Given the description of an element on the screen output the (x, y) to click on. 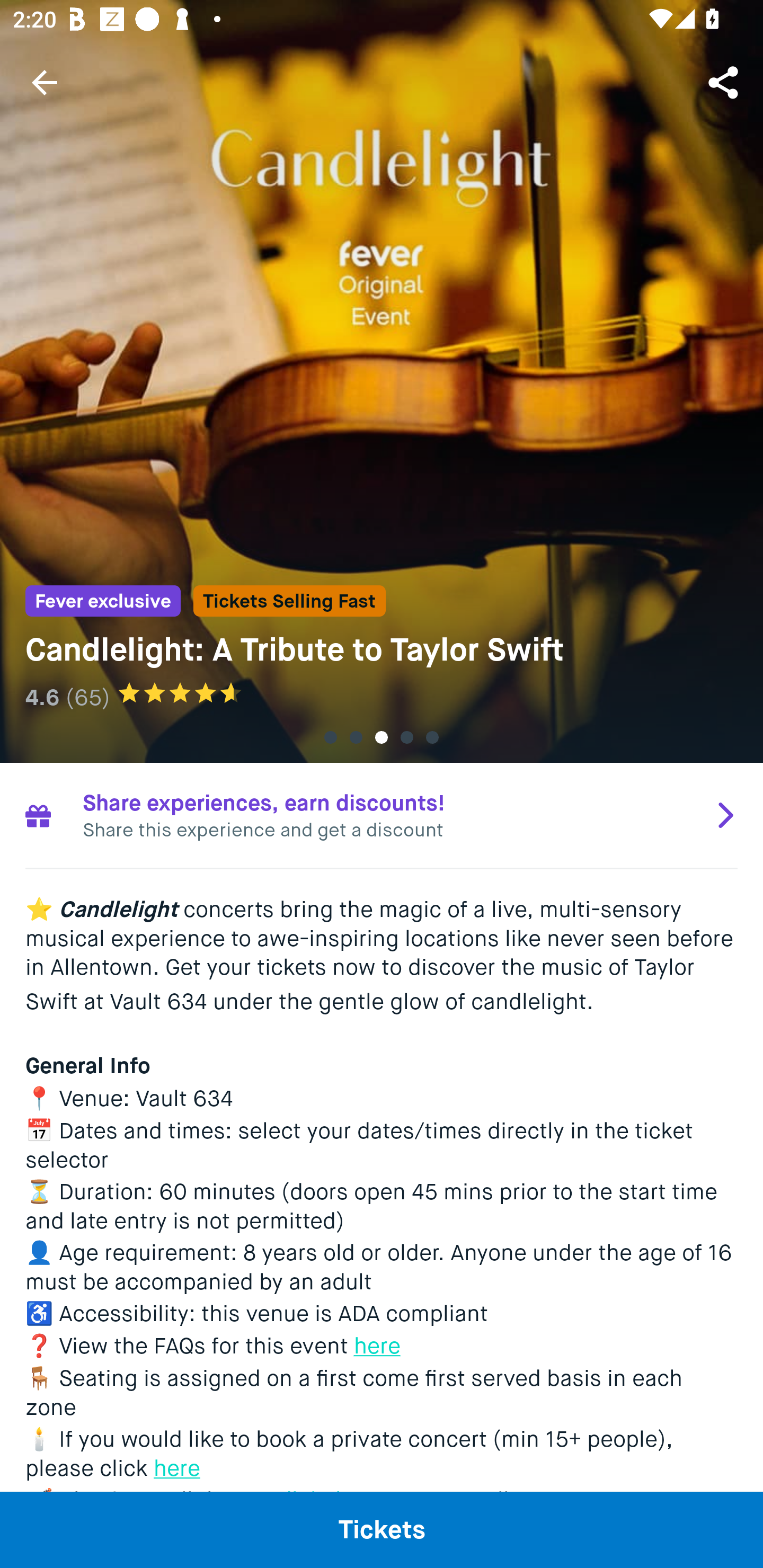
Navigate up (44, 82)
Share (724, 81)
(65) (87, 697)
Tickets (381, 1529)
